Given the description of an element on the screen output the (x, y) to click on. 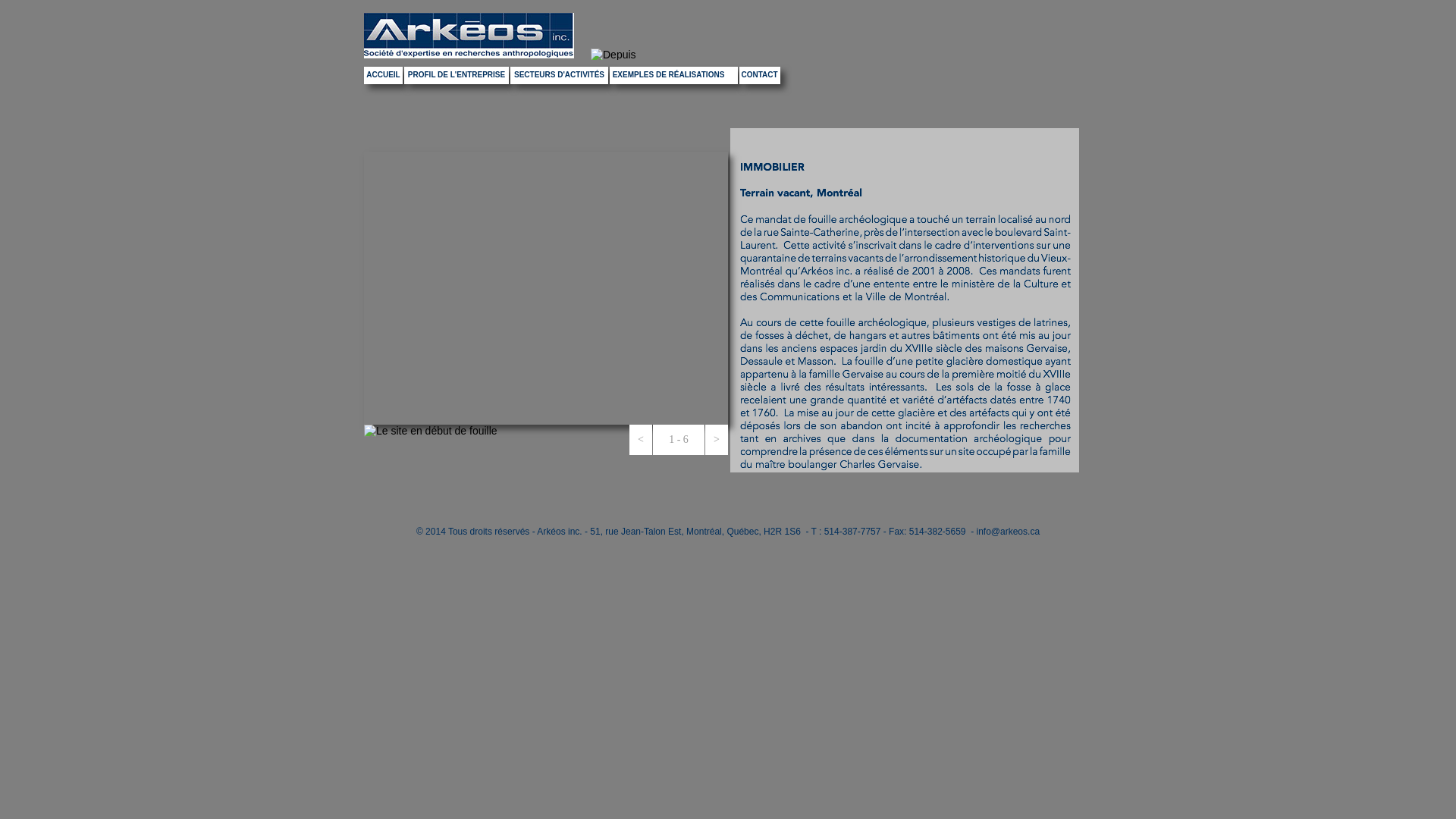
PROFIL DE L'ENTREPRISE Element type: text (456, 75)
info@arkeos.ca Element type: text (1008, 531)
CONTACT Element type: text (759, 75)
ACCUEIL Element type: text (383, 75)
